Given the description of an element on the screen output the (x, y) to click on. 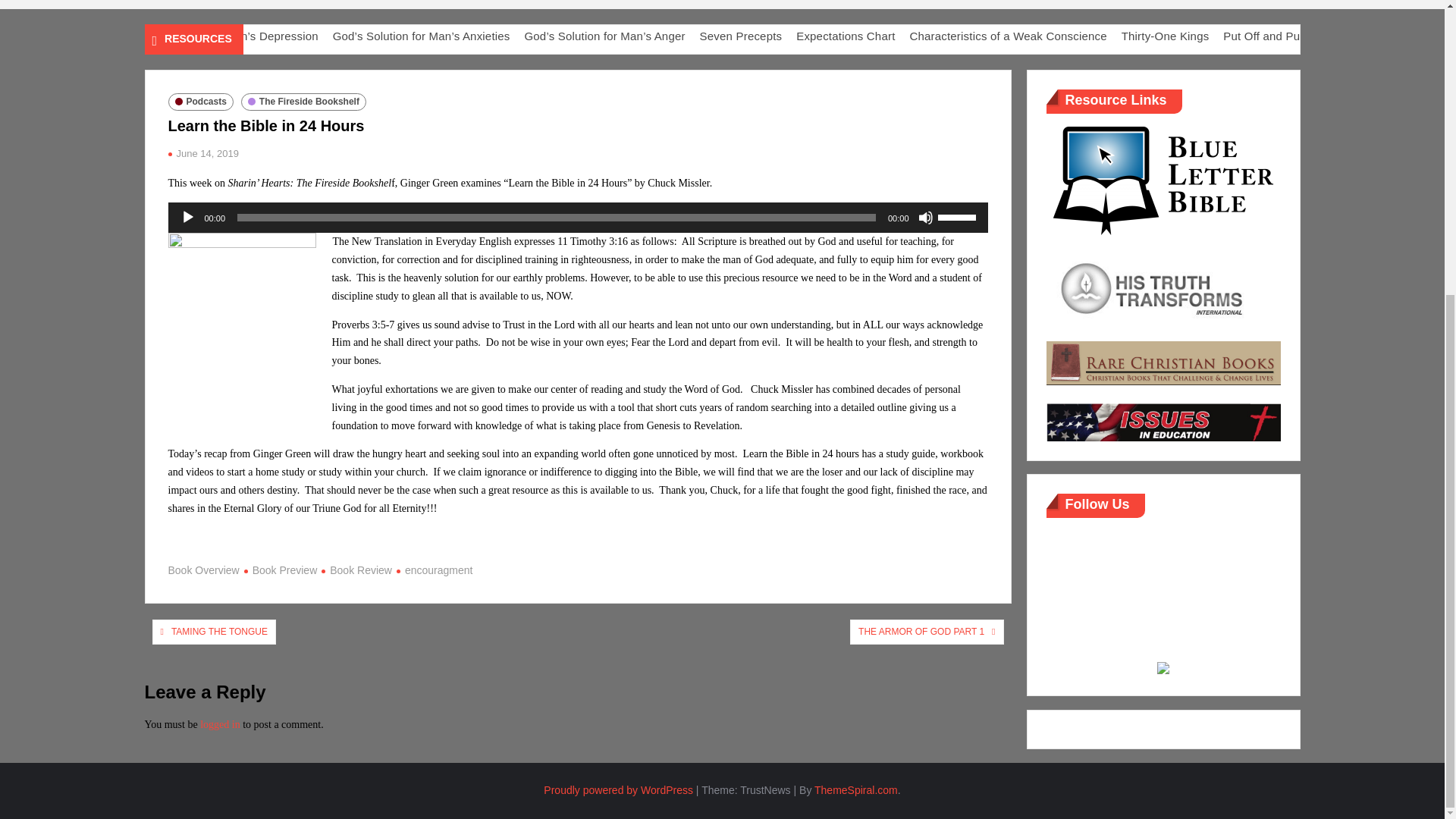
Expectations Chart (1107, 35)
Seven Precepts (1003, 35)
Characteristics of a Weak Conscience (1268, 35)
